Given the description of an element on the screen output the (x, y) to click on. 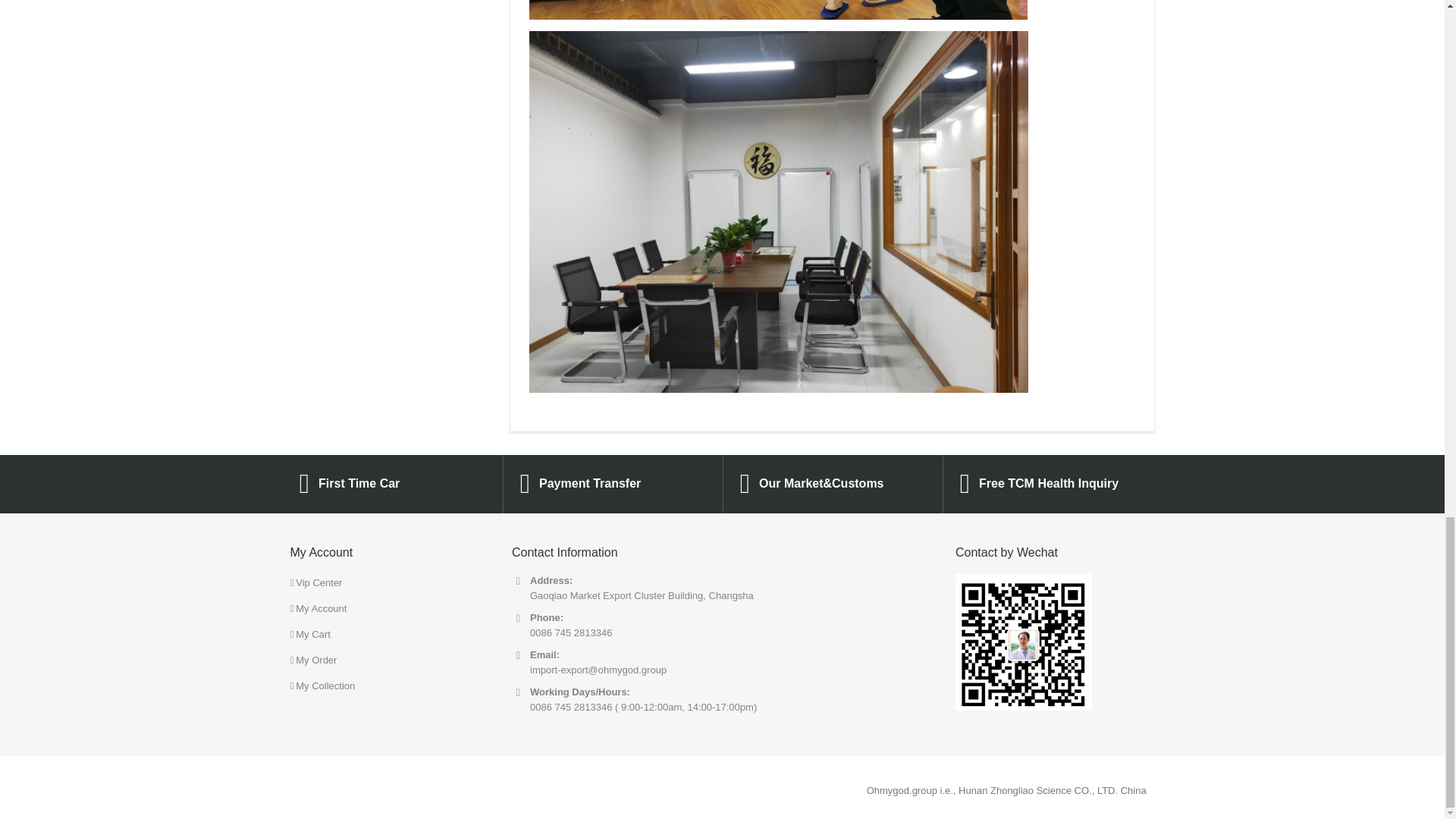
1599496554148963.jpg (778, 9)
